Given the description of an element on the screen output the (x, y) to click on. 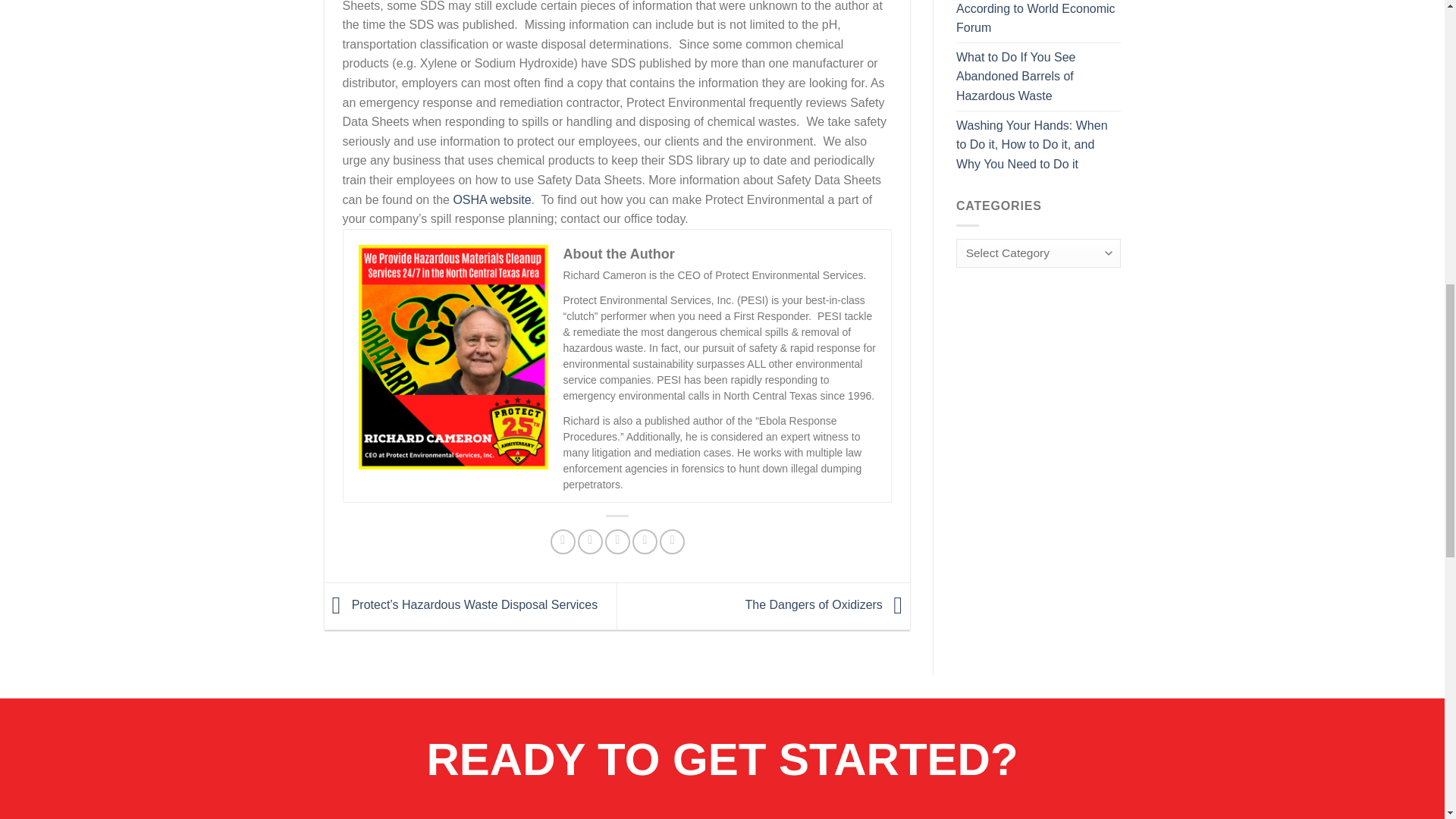
Share on LinkedIn (671, 541)
Share on Facebook (562, 541)
The Dangers of Oxidizers (827, 604)
Pin on Pinterest (644, 541)
OSHA website (491, 199)
Share on Twitter (590, 541)
OSHA Hazard Communication (491, 199)
Email to a Friend (617, 541)
